Given the description of an element on the screen output the (x, y) to click on. 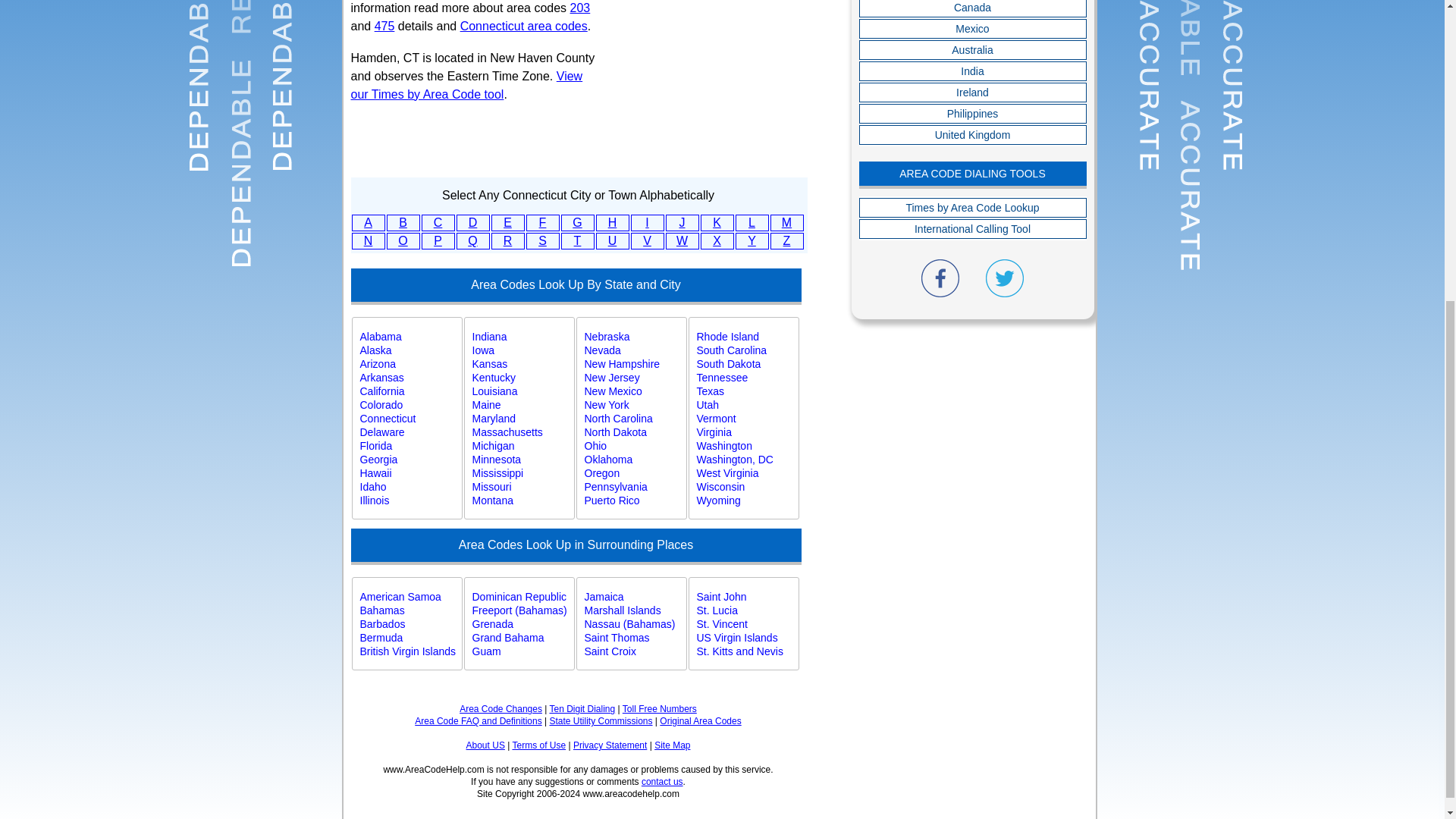
203 (580, 7)
View our Times by Area Code tool (466, 84)
475 (384, 25)
Advertisement (721, 72)
Connecticut area codes (524, 25)
